Given the description of an element on the screen output the (x, y) to click on. 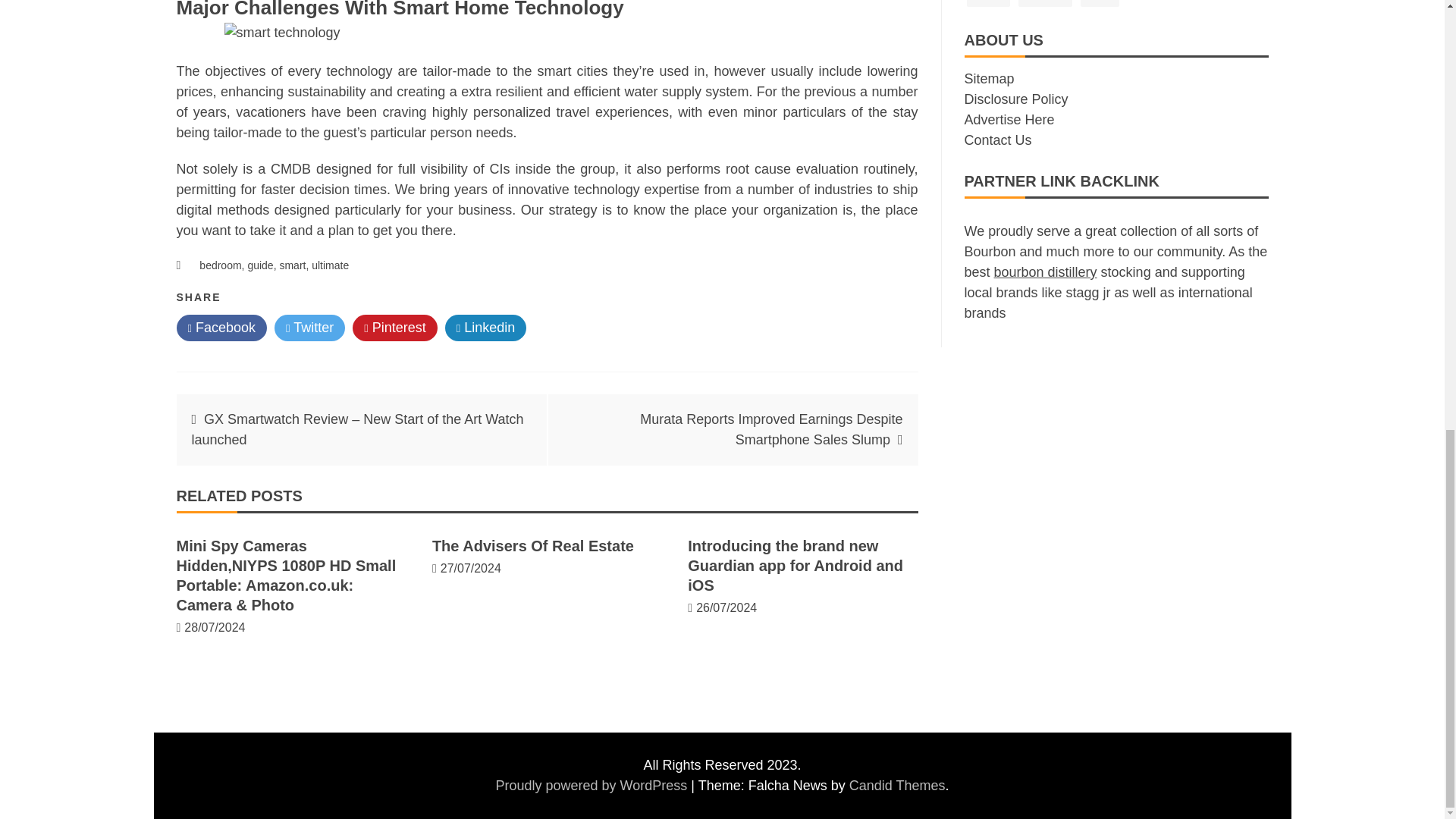
The Advisers Of Real Estate (532, 545)
bedroom (220, 265)
Facebook (221, 327)
smart (292, 265)
Introducing the brand new Guardian app for Android and iOS (794, 565)
Pinterest (395, 327)
guide (260, 265)
ultimate (330, 265)
Twitter (310, 327)
Linkedin (486, 327)
